Given the description of an element on the screen output the (x, y) to click on. 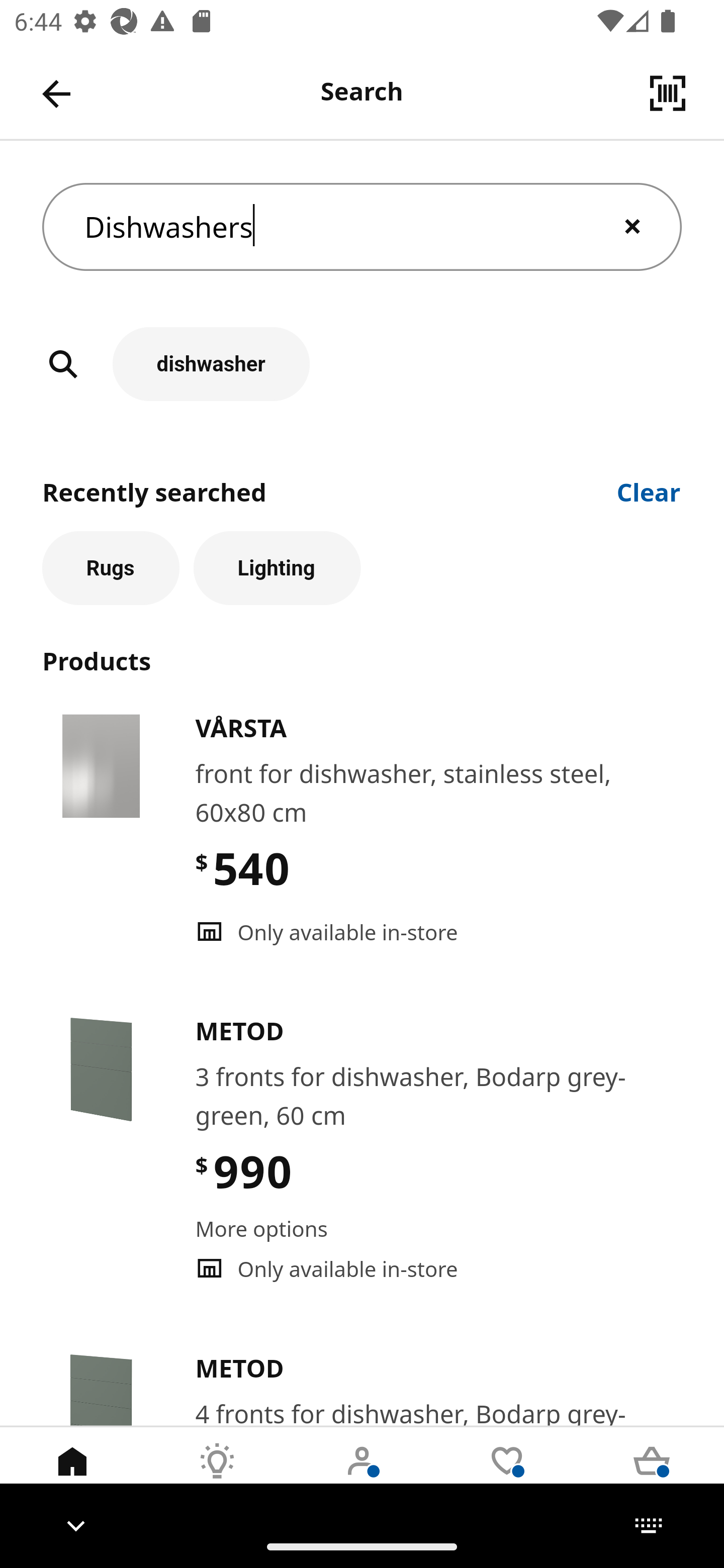
Dishwashers (361, 227)
dishwasher (361, 364)
Clear (649, 490)
Rugs (110, 568)
Lighting (277, 568)
Home
Tab 1 of 5 (72, 1476)
Inspirations
Tab 2 of 5 (216, 1476)
User
Tab 3 of 5 (361, 1476)
Wishlist
Tab 4 of 5 (506, 1476)
Cart
Tab 5 of 5 (651, 1476)
